Given the description of an element on the screen output the (x, y) to click on. 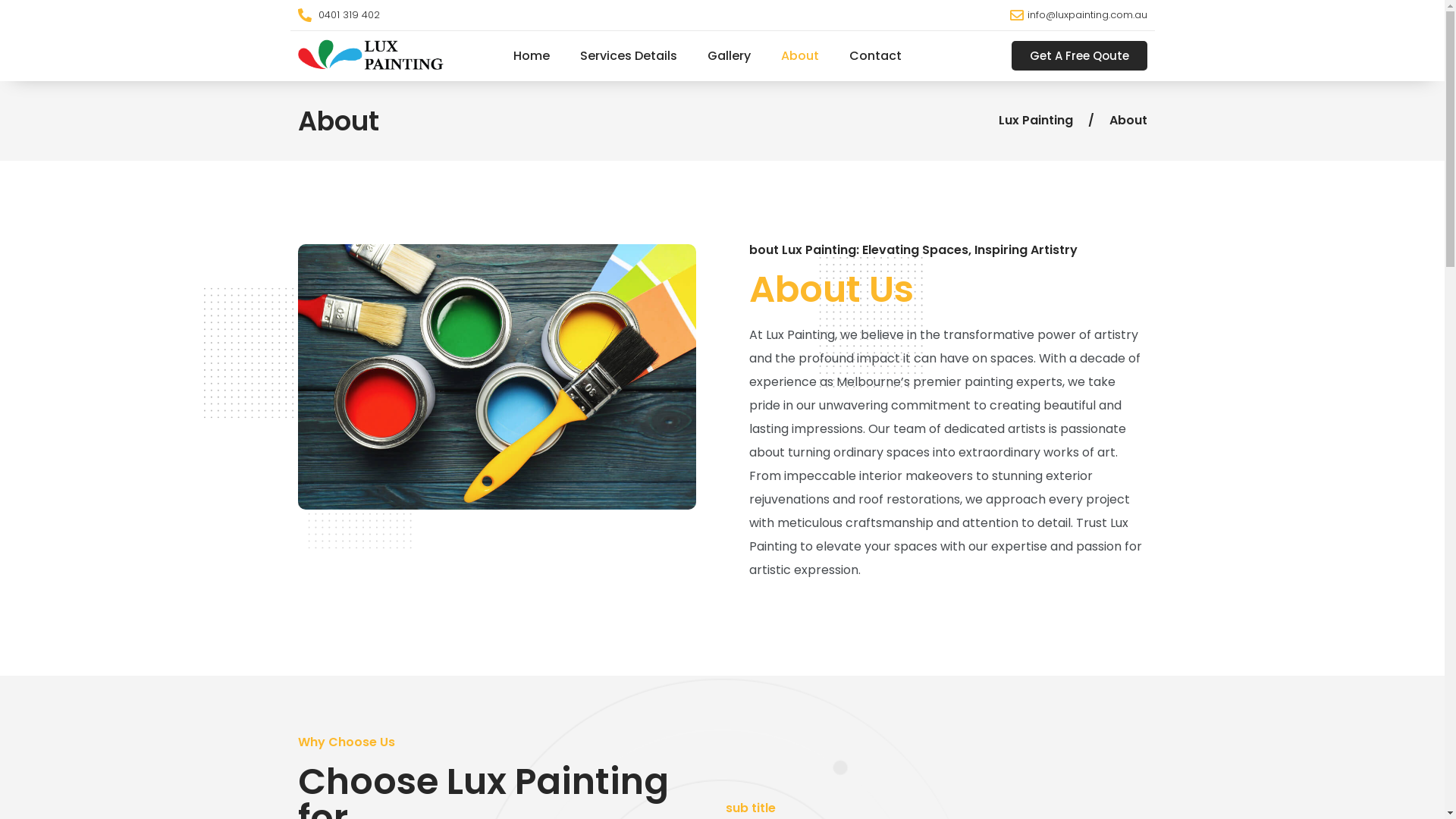
Gallery Element type: text (728, 54)
Home Element type: text (531, 54)
Lux Painting Element type: text (1034, 120)
Services Details Element type: text (628, 54)
Get A Free Qoute Element type: text (1079, 55)
About Element type: text (799, 54)
Contact Element type: text (875, 54)
0401 319 402 Element type: text (505, 14)
